Given the description of an element on the screen output the (x, y) to click on. 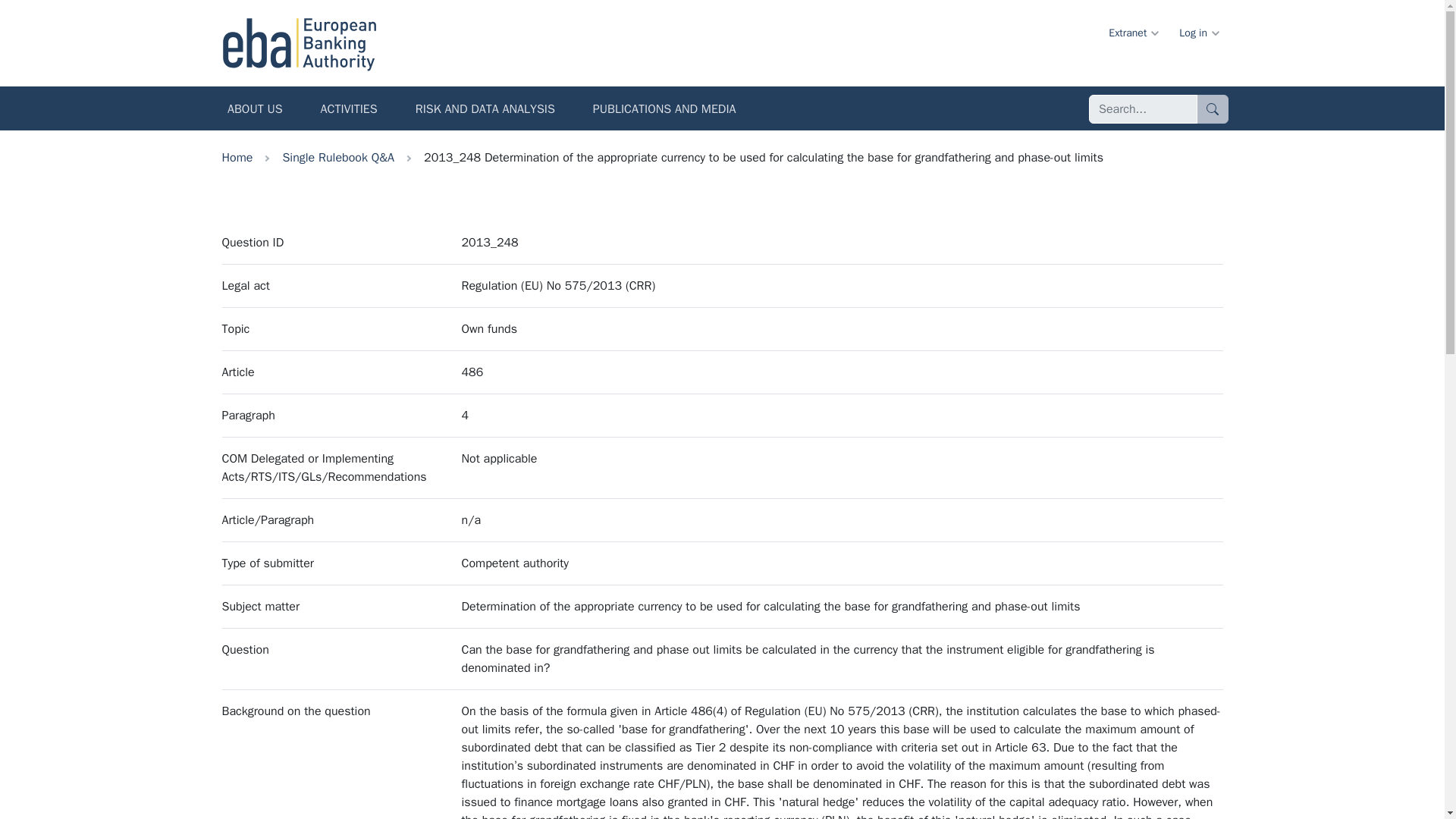
Extranet (1132, 32)
ACTIVITIES (348, 111)
Enter the terms you wish to search for. (1142, 109)
ABOUT US (254, 111)
Log in (1197, 32)
